Given the description of an element on the screen output the (x, y) to click on. 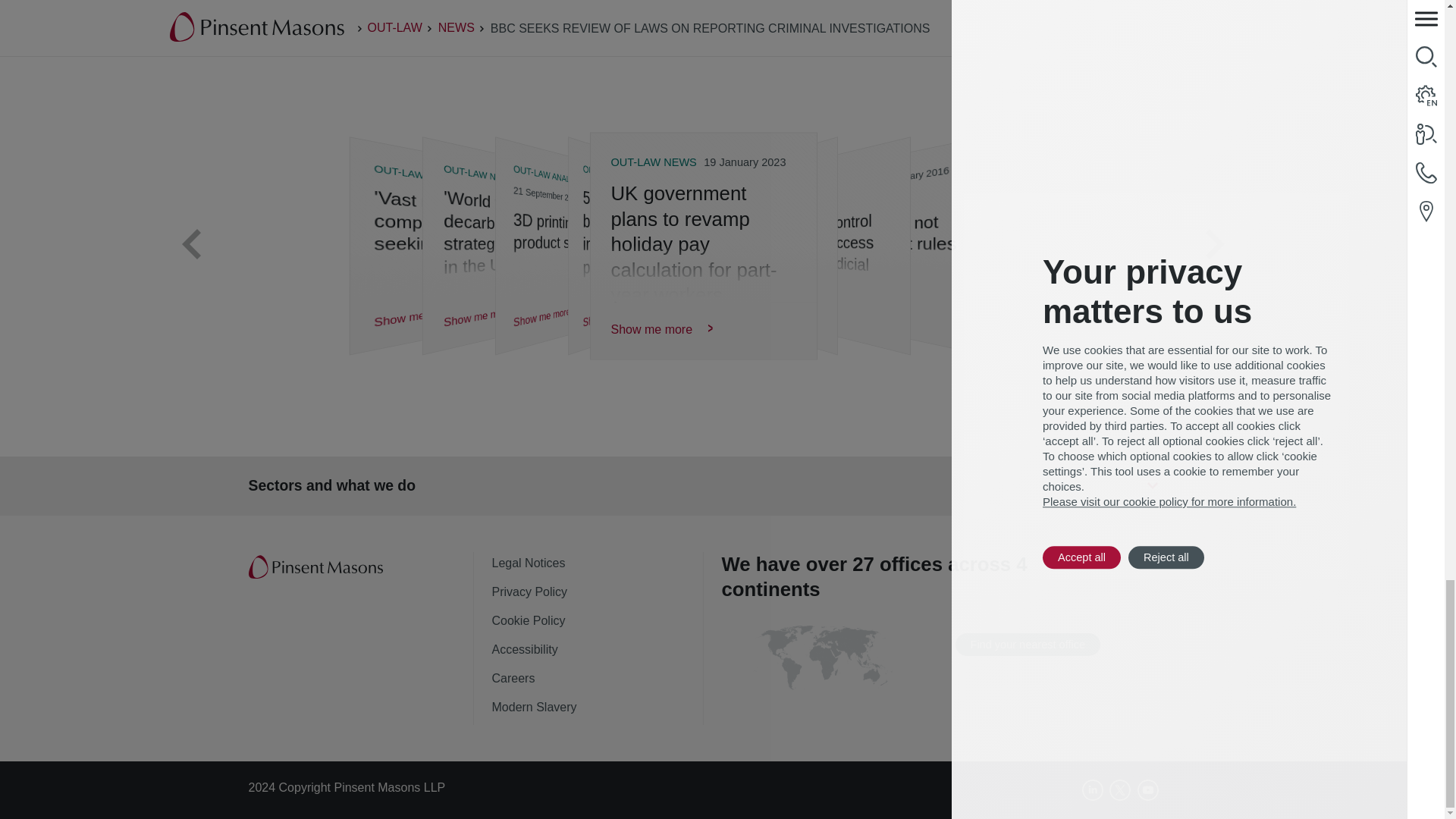
Pinsent Masons (316, 567)
Pinsent Masons Twitter (1120, 789)
Pinsent Masons LinkedIn (1092, 789)
